Given the description of an element on the screen output the (x, y) to click on. 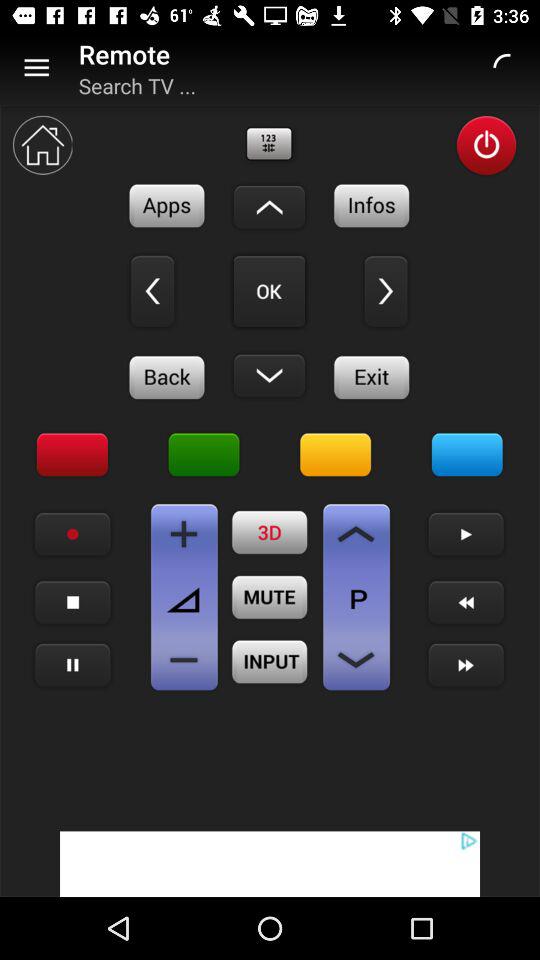
calculter page (183, 534)
